Given the description of an element on the screen output the (x, y) to click on. 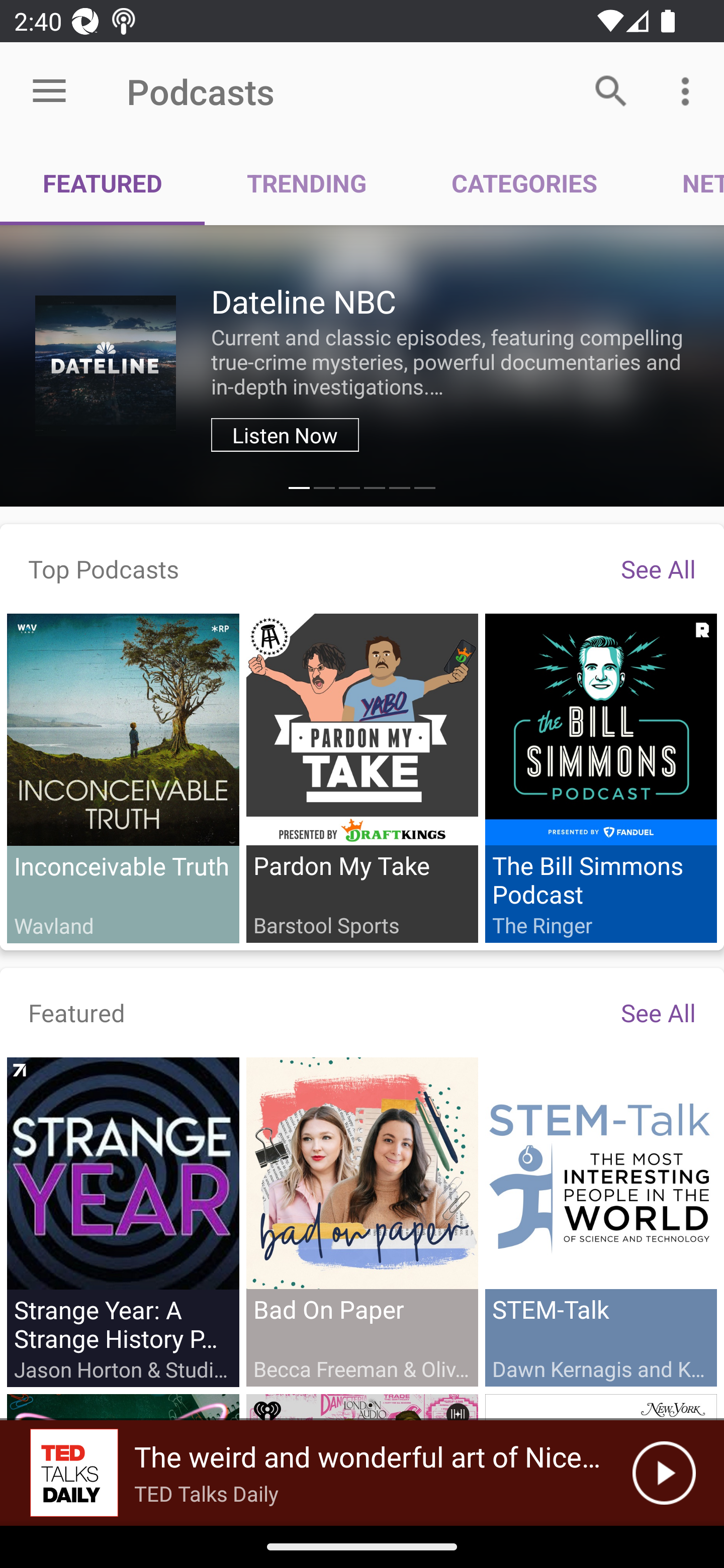
Open menu (49, 91)
Search (611, 90)
More options (688, 90)
FEATURED (102, 183)
TRENDING (306, 183)
CATEGORIES (524, 183)
Top Podcasts (103, 567)
See All (658, 567)
Inconceivable Truth Wavland (123, 778)
Pardon My Take Barstool Sports (361, 777)
The Bill Simmons Podcast The Ringer (600, 777)
Featured (76, 1011)
See All (658, 1011)
Bad On Paper Becca Freeman & Olivia Muenter (361, 1221)
STEM-Talk Dawn Kernagis and Ken Ford (600, 1221)
Play (663, 1472)
